Given the description of an element on the screen output the (x, y) to click on. 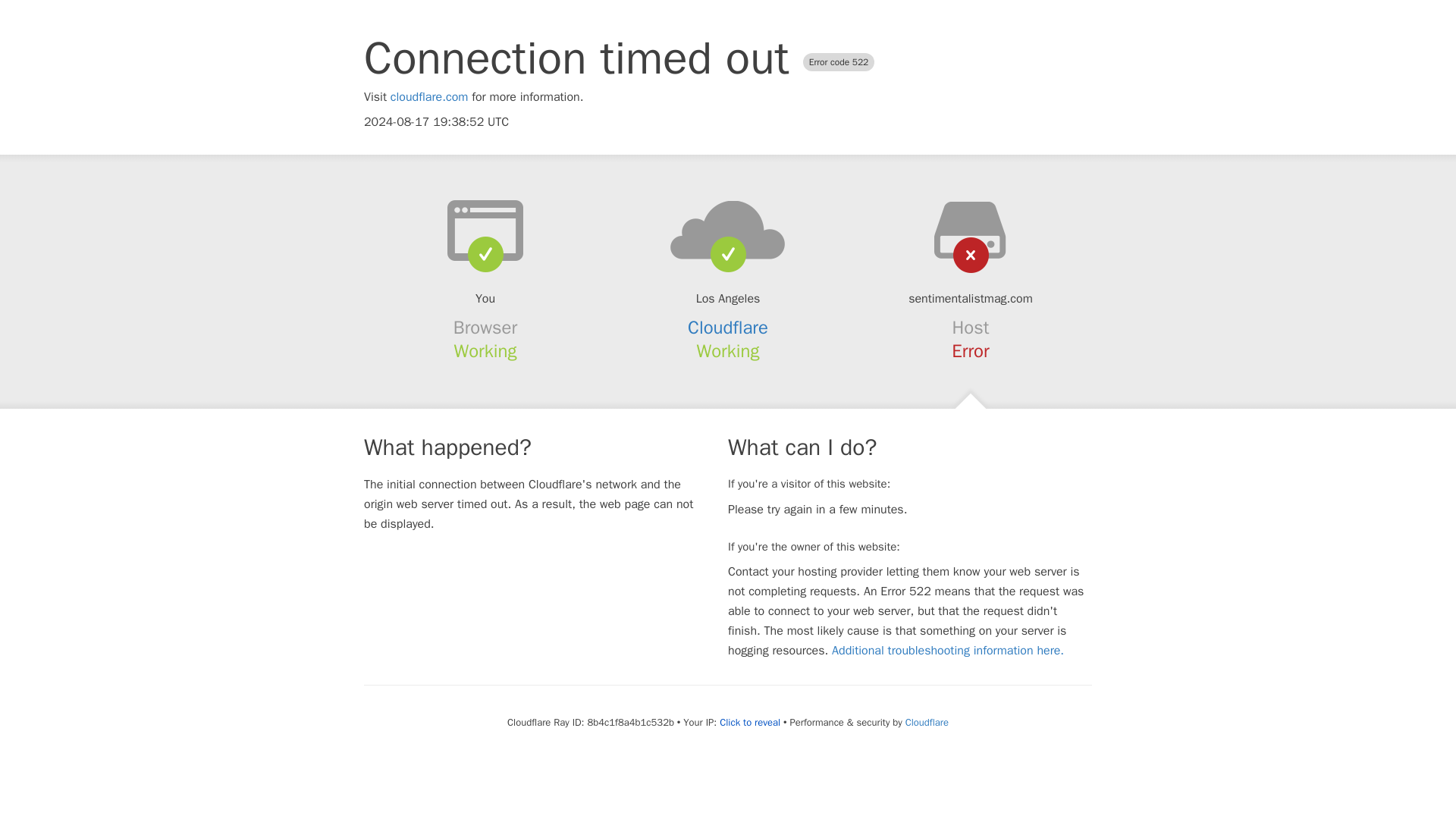
cloudflare.com (429, 96)
Click to reveal (749, 722)
Additional troubleshooting information here. (947, 650)
Cloudflare (727, 327)
Cloudflare (927, 721)
